Given the description of an element on the screen output the (x, y) to click on. 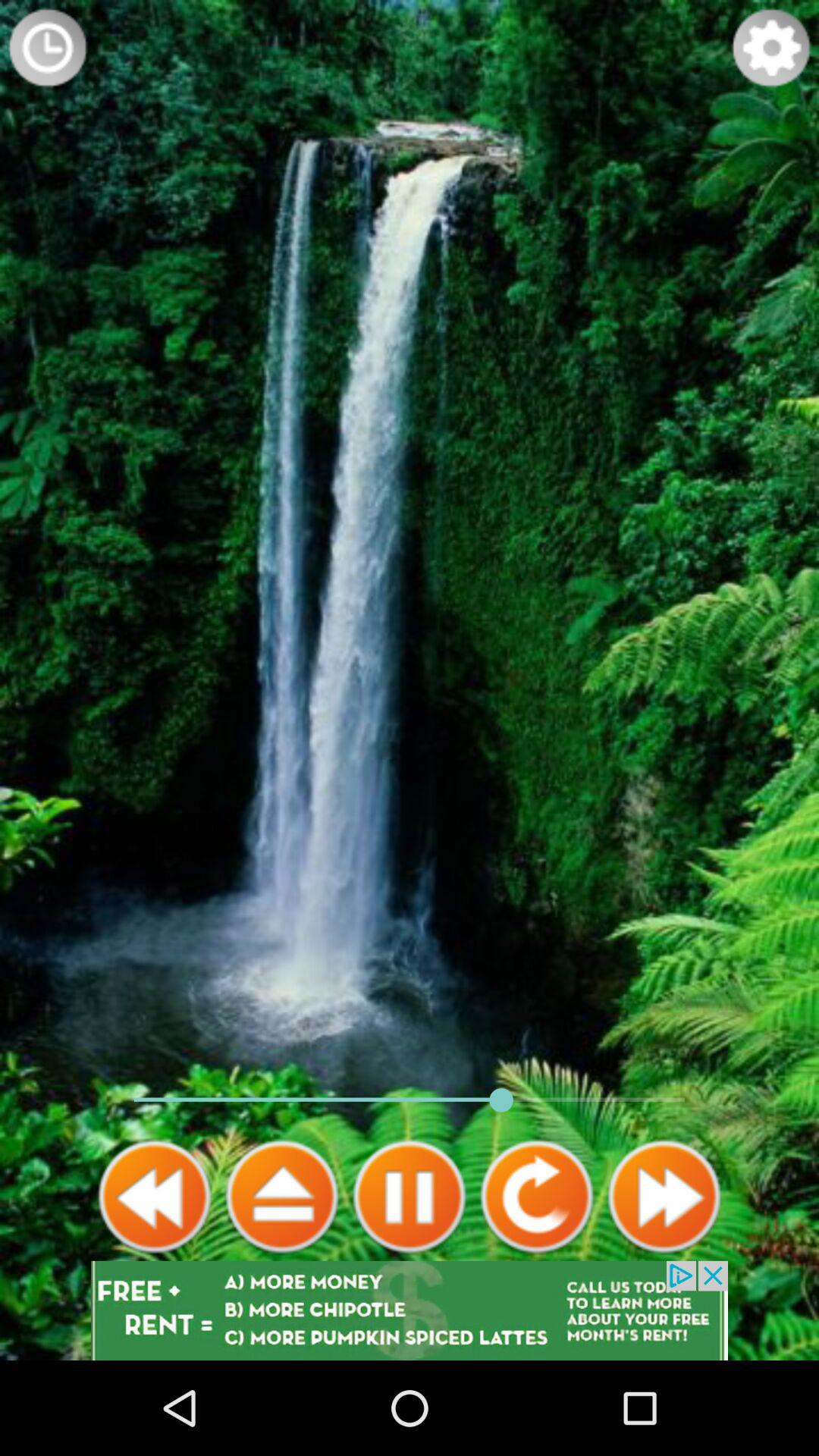
go to previous (154, 1196)
